Given the description of an element on the screen output the (x, y) to click on. 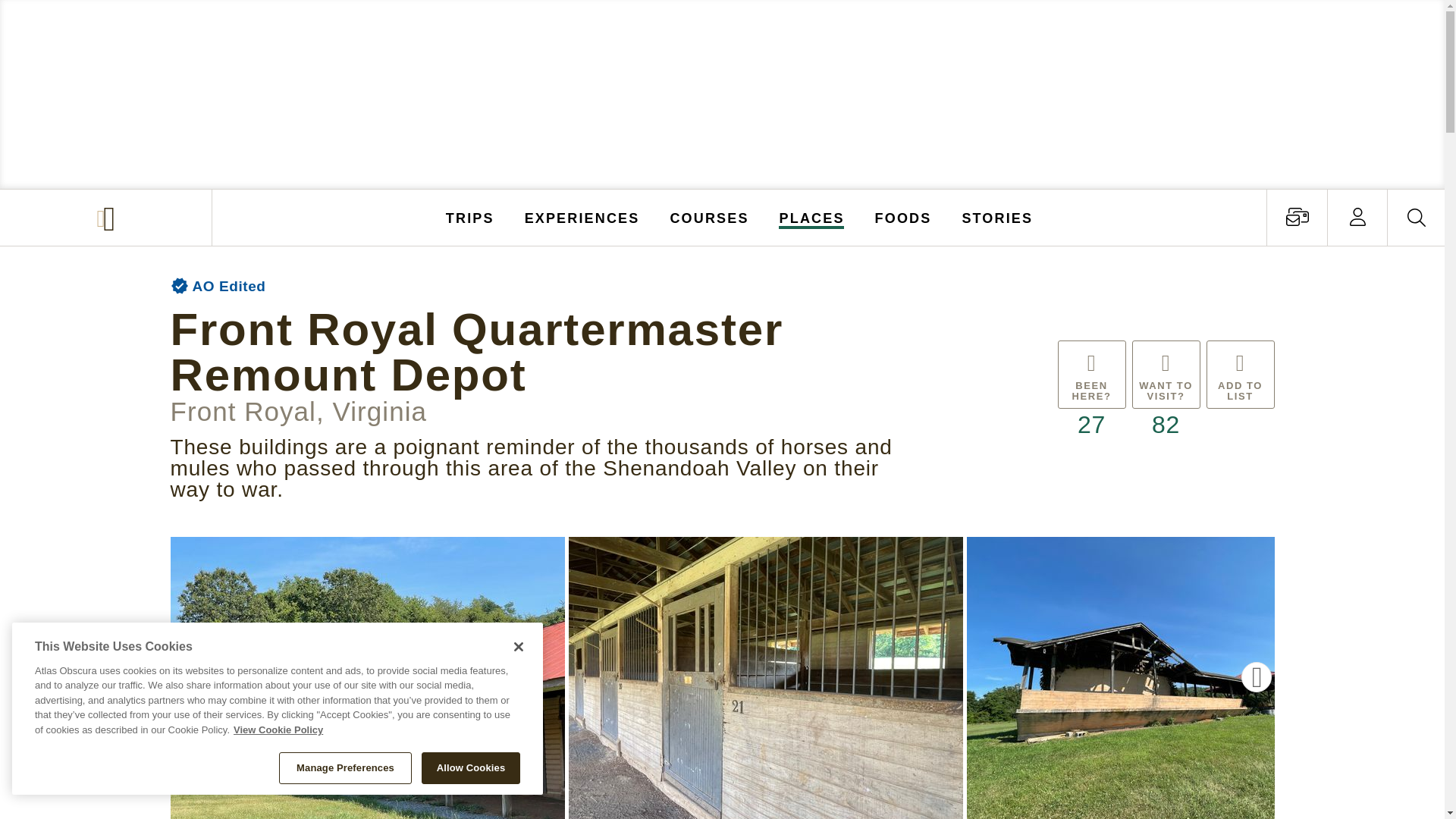
TRIPS (469, 217)
PLACES (812, 217)
COURSES (707, 217)
EXPERIENCES (582, 217)
Add to list (1239, 391)
